Given the description of an element on the screen output the (x, y) to click on. 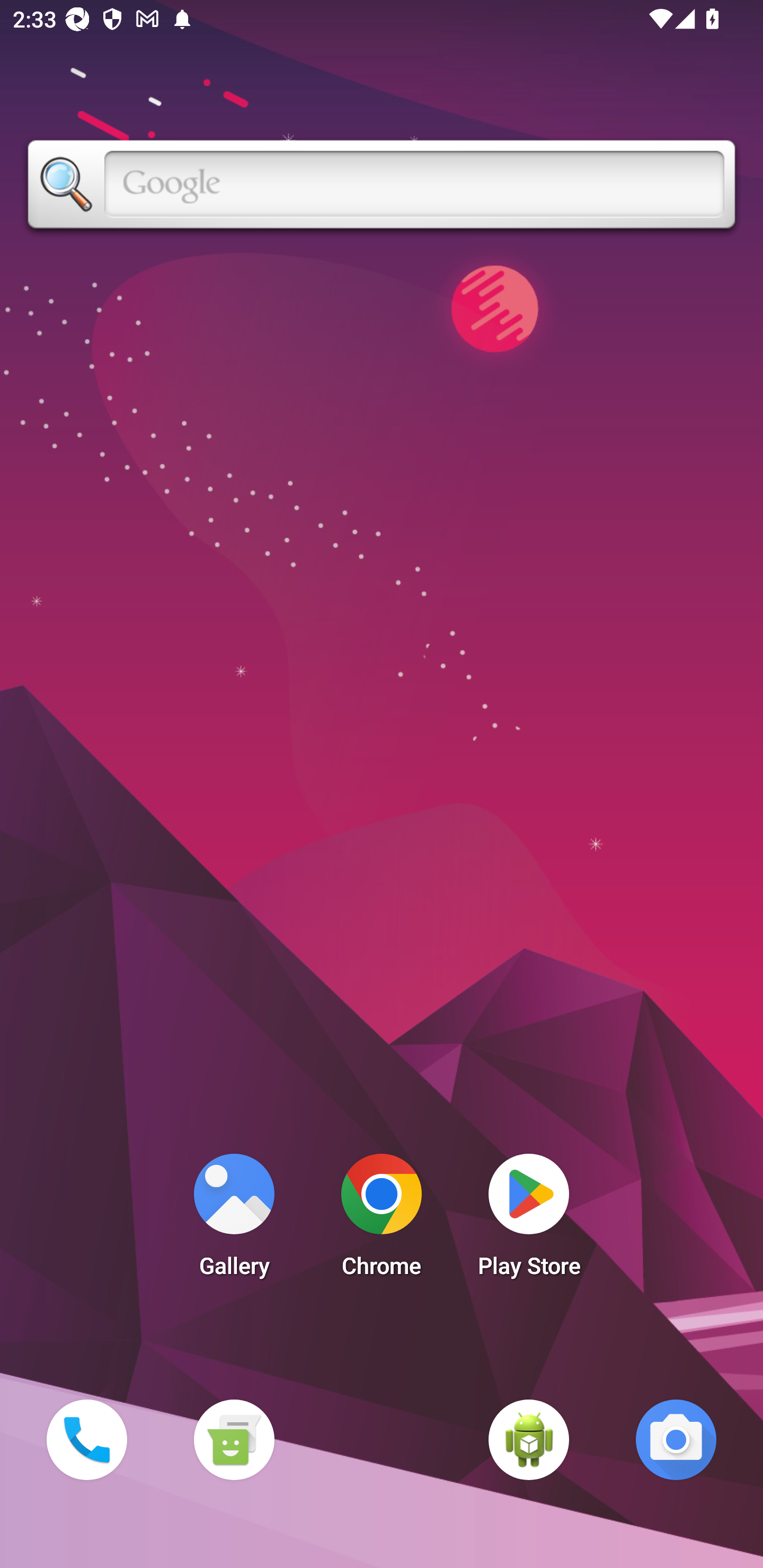
Gallery (233, 1220)
Chrome (381, 1220)
Play Store (528, 1220)
Phone (86, 1439)
Messaging (233, 1439)
WebView Browser Tester (528, 1439)
Camera (676, 1439)
